Given the description of an element on the screen output the (x, y) to click on. 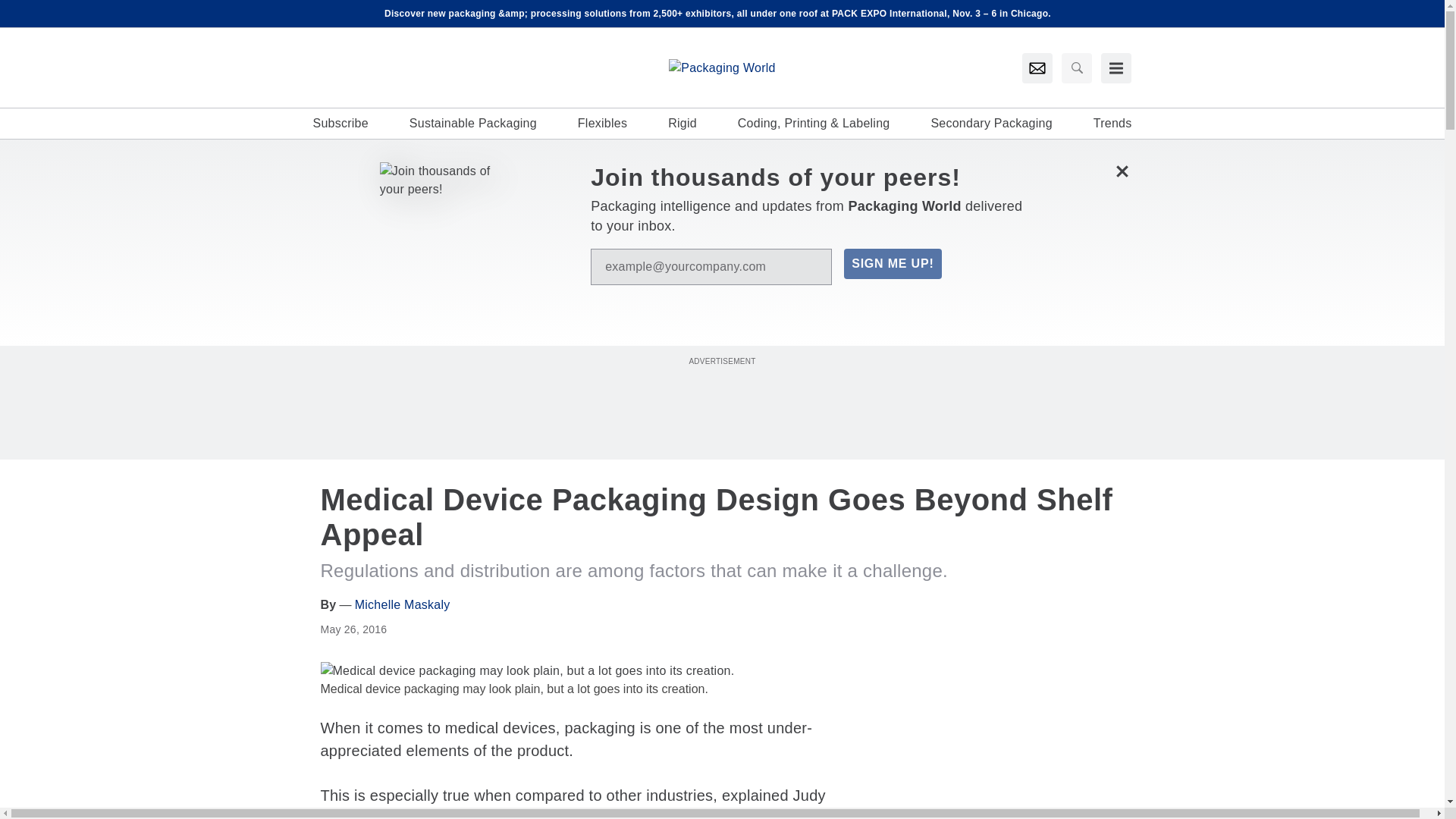
Sustainable Packaging (473, 123)
Secondary Packaging (990, 123)
Rigid (682, 123)
Subscribe (340, 123)
Flexibles (602, 123)
Trends (1112, 123)
SIGN ME UP! (892, 263)
